Given the description of an element on the screen output the (x, y) to click on. 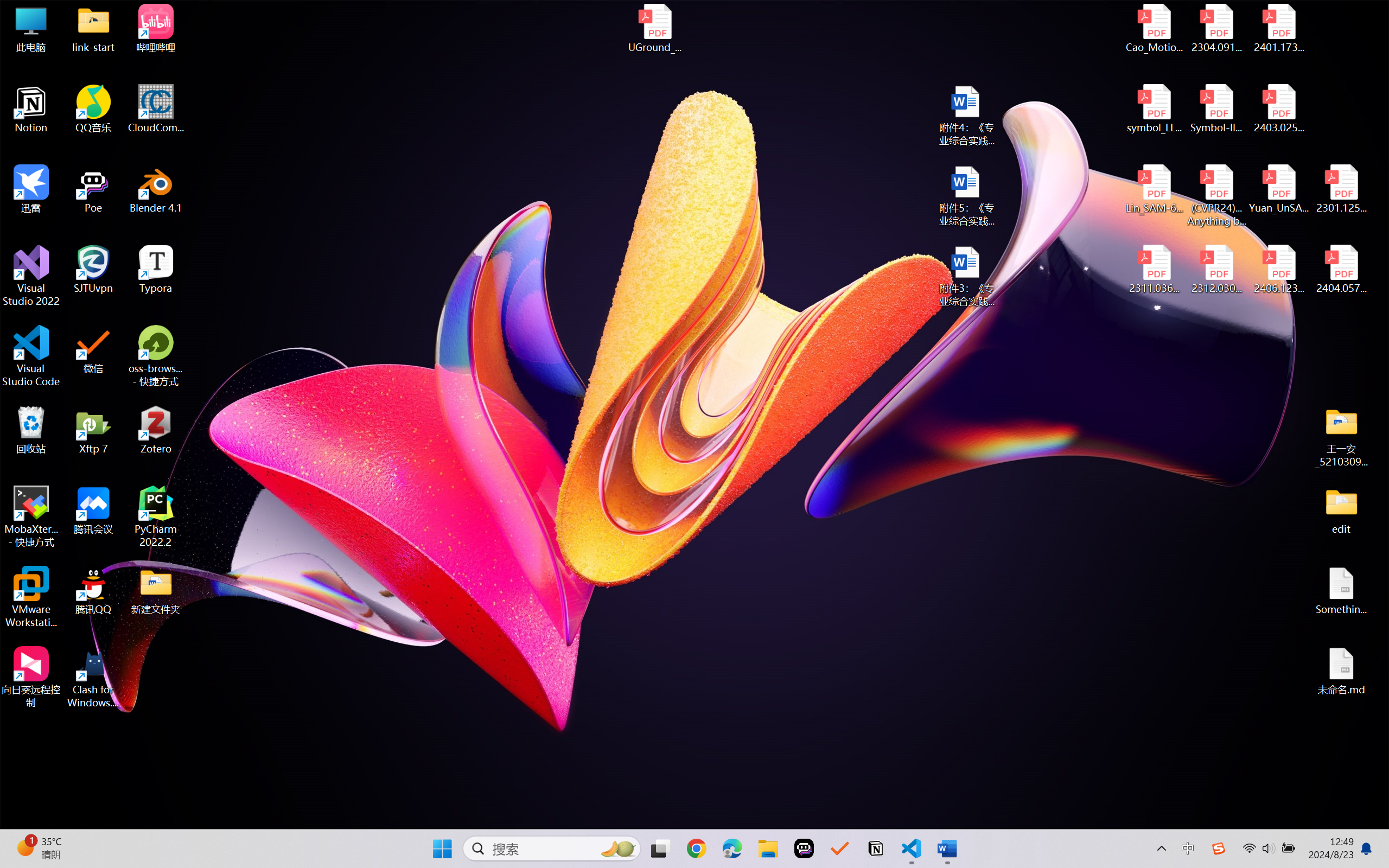
Settings - System (1208, 12)
Current version (526, 258)
Sign in - Google Accounts (325, 12)
December 15, 2022 (533, 629)
February 8, 2024 (529, 364)
Privacy & Terms (72, 72)
February 4, 2021 (529, 841)
Currencies - Google Finance (202, 12)
October 4, 2022 (528, 682)
October 4, 2023 (528, 523)
